Given the description of an element on the screen output the (x, y) to click on. 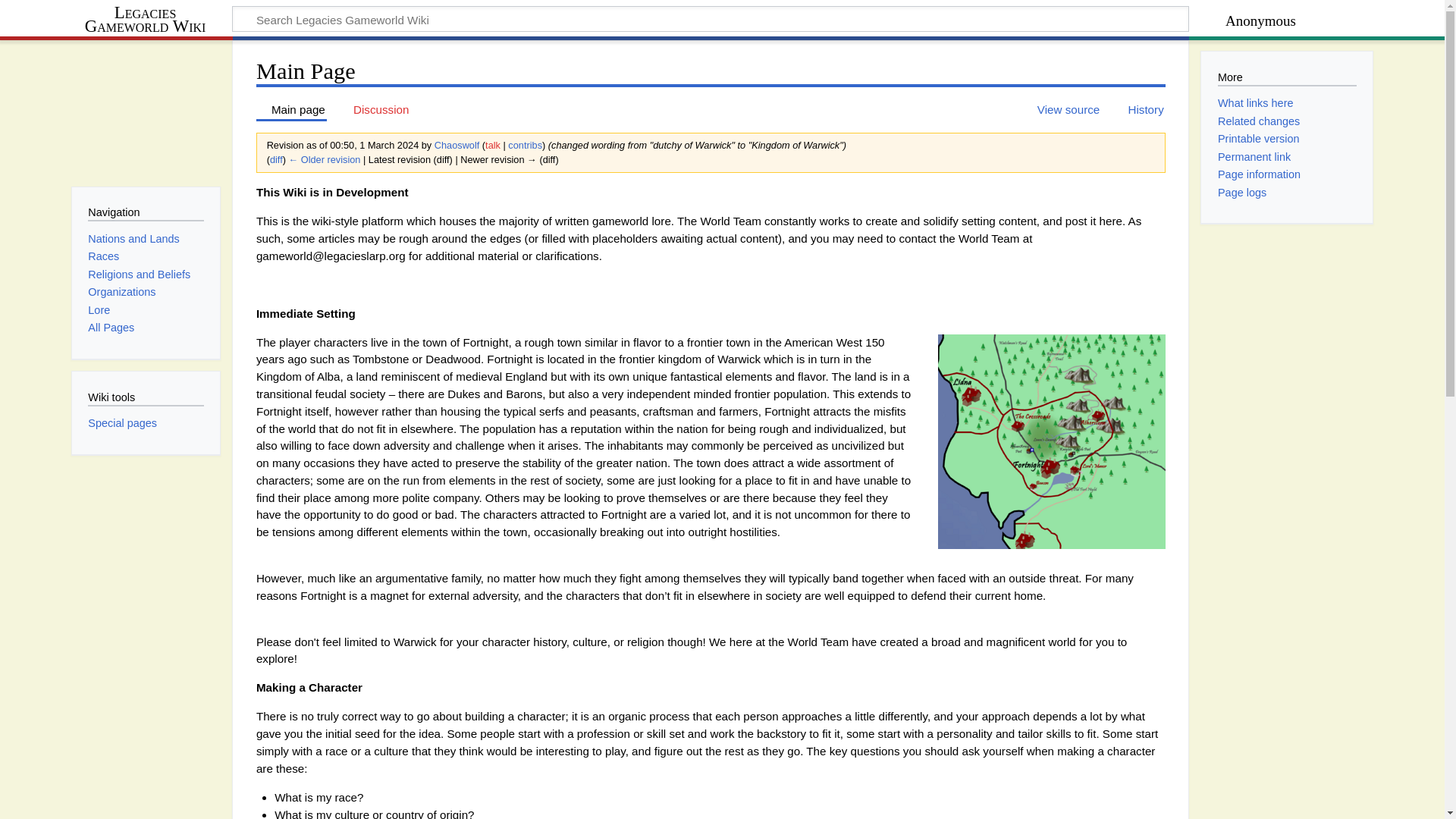
talk (492, 144)
Go (1155, 21)
Discussion (373, 109)
diff (275, 159)
Search (1155, 21)
Search the pages for this text (1155, 21)
Page information (1258, 174)
Search (1155, 21)
Related changes (1258, 121)
Legacies Gameworld Wiki (151, 19)
Organizations (121, 291)
Search (1155, 21)
User:Chaoswolf (456, 144)
Religions and Beliefs (138, 274)
Page logs (1241, 192)
